Given the description of an element on the screen output the (x, y) to click on. 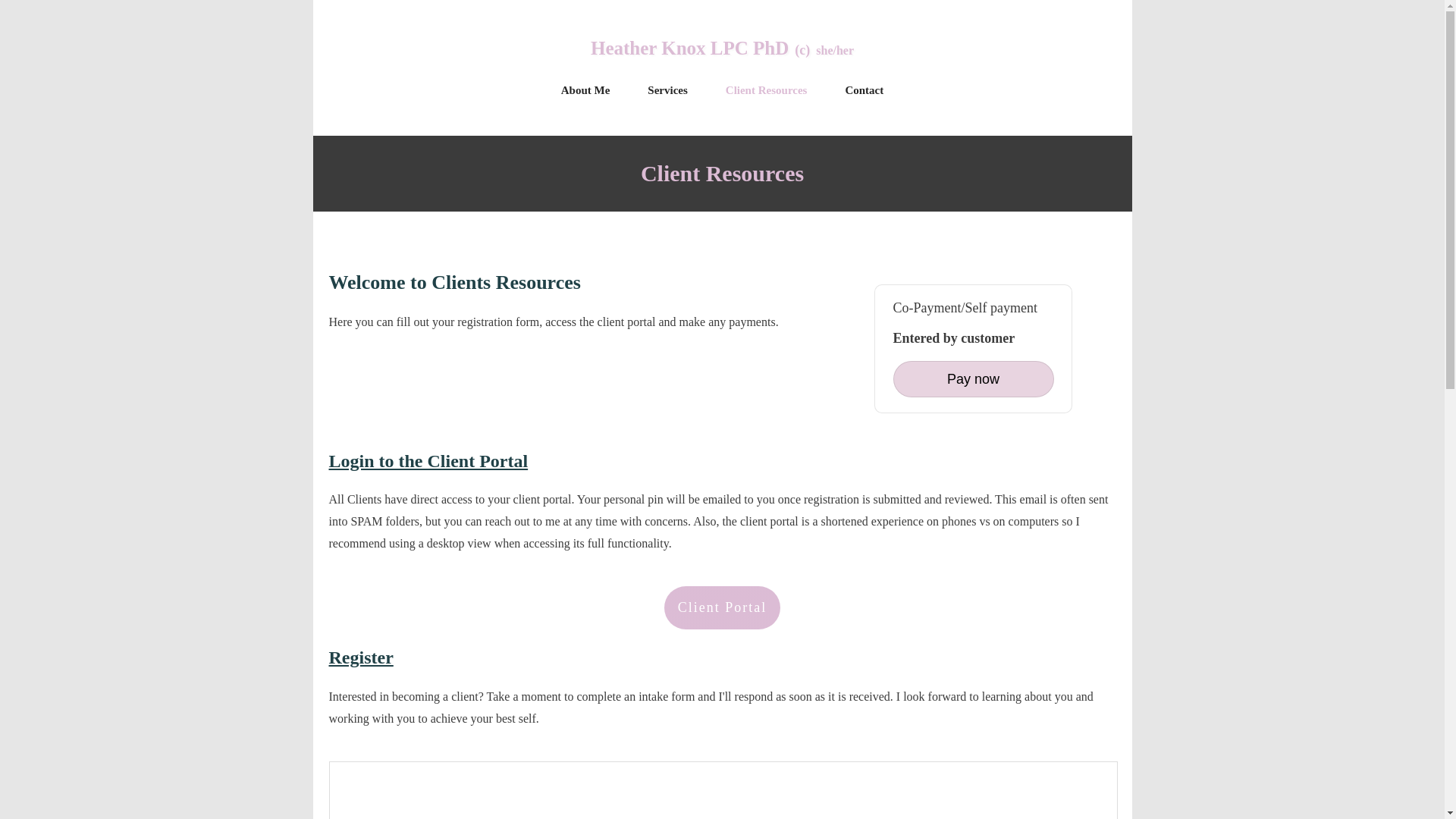
About Me (585, 89)
Login to the Client Portal (428, 460)
Client Resources (766, 89)
Client Portal (721, 607)
Register (361, 657)
Pay now (973, 379)
Contact (863, 89)
Services (667, 89)
